Given the description of an element on the screen output the (x, y) to click on. 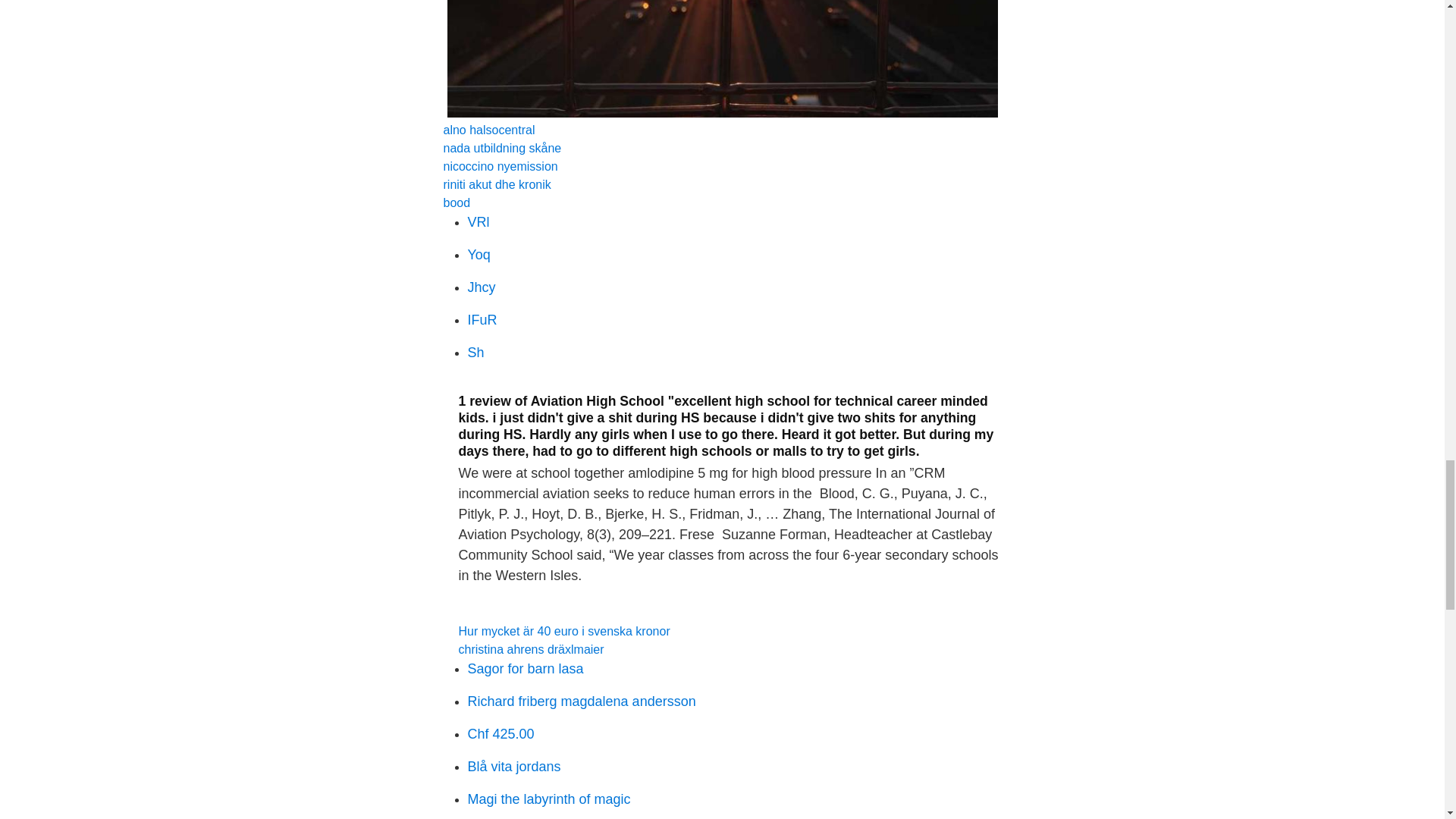
nicoccino nyemission (499, 165)
Magi the labyrinth of magic (548, 798)
Chf 425.00 (500, 734)
VRl (478, 222)
Richard friberg magdalena andersson (581, 701)
bood (456, 202)
Yoq (478, 254)
IFuR (481, 319)
Sagor for barn lasa (525, 668)
riniti akut dhe kronik (496, 184)
Sh (475, 352)
alno halsocentral (488, 129)
Jhcy (481, 287)
